Given the description of an element on the screen output the (x, y) to click on. 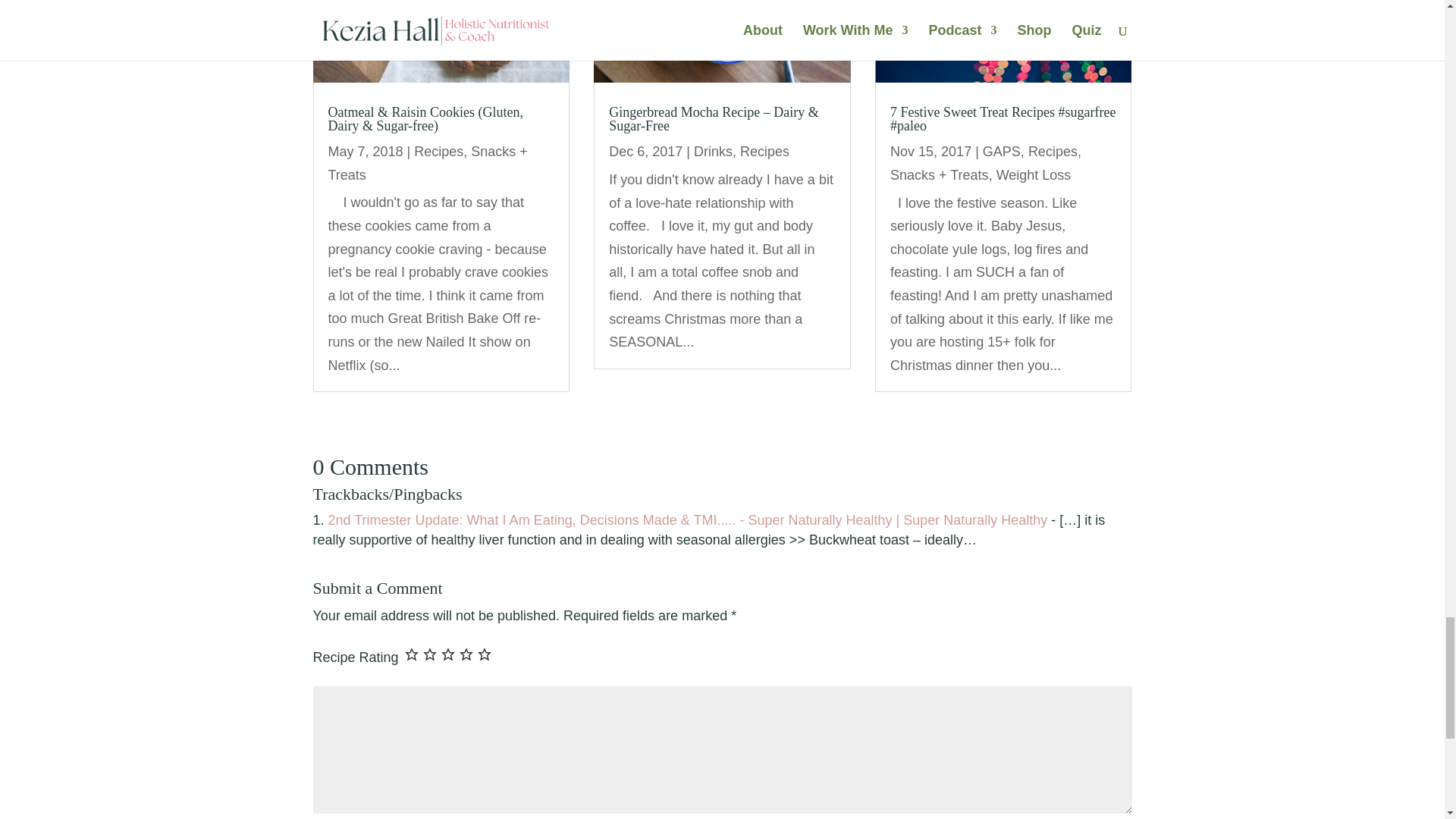
Recipes (438, 151)
